Given the description of an element on the screen output the (x, y) to click on. 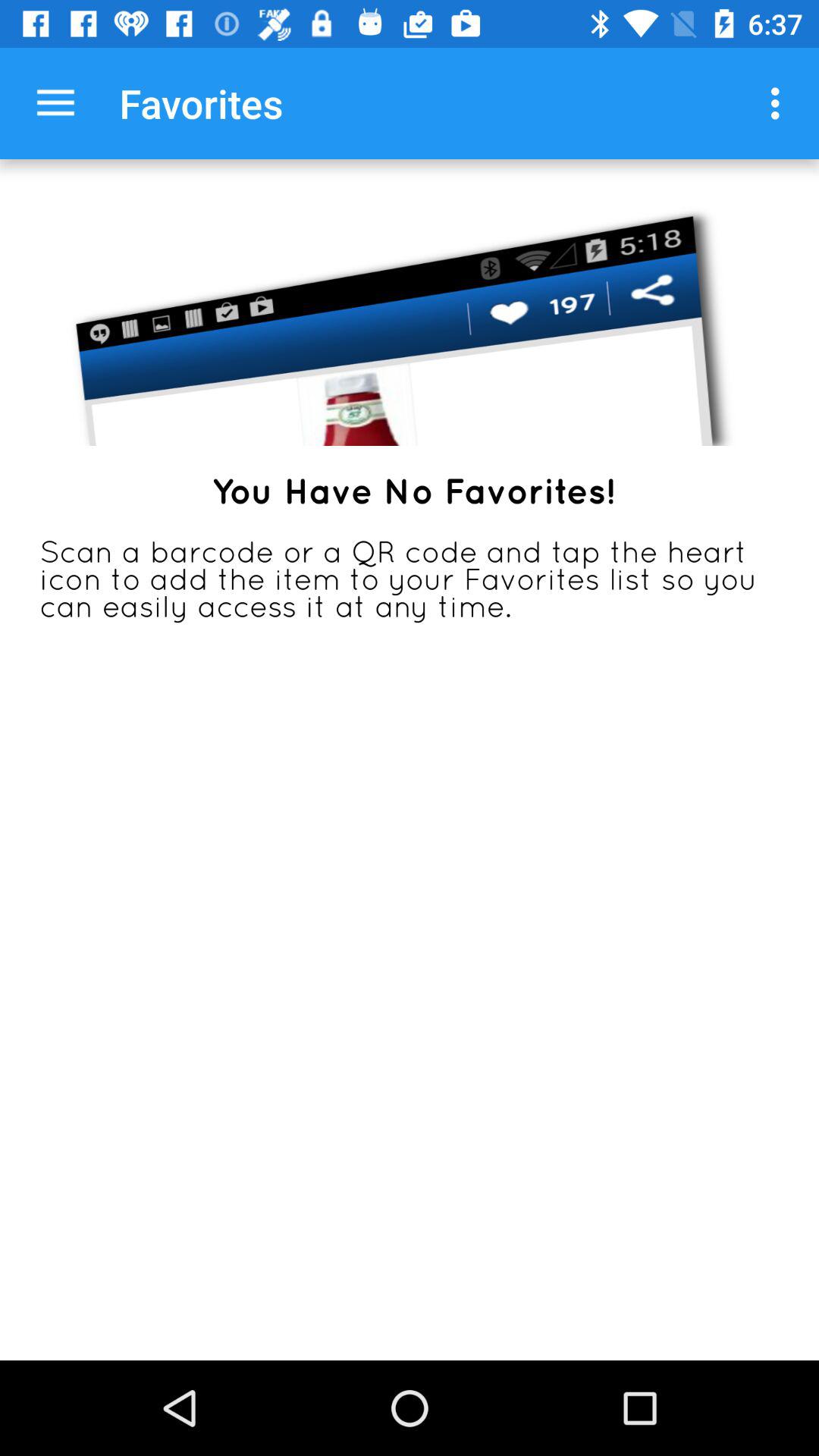
choose item to the right of the favorites (779, 103)
